Given the description of an element on the screen output the (x, y) to click on. 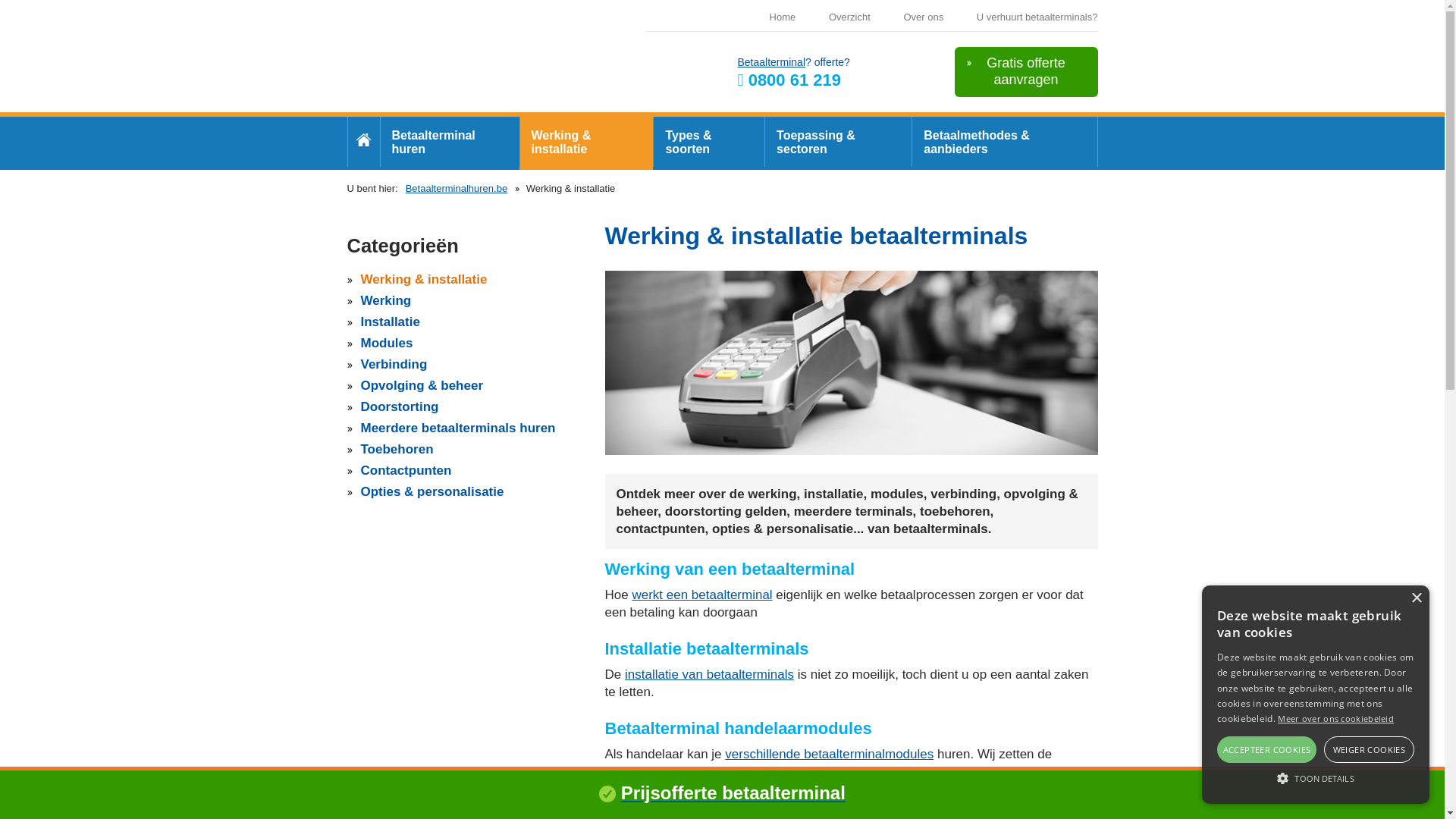
Opvolging & beheer Element type: text (421, 385)
Over ons Element type: text (923, 16)
Verbinding Element type: text (393, 364)
Werking & installatie Element type: text (423, 279)
Betaalterminal Element type: text (771, 62)
Overzicht Element type: text (849, 16)
Types & soorten Element type: text (708, 142)
Home Element type: text (363, 141)
Toepassing & sectoren Element type: text (837, 142)
Contactpunten Element type: text (405, 470)
Home Element type: text (782, 16)
Betaalterminalhuren.be Element type: text (456, 188)
Prijsofferte betaalterminal Element type: text (733, 792)
Werking Element type: text (385, 300)
verschillende betaalterminalmodules Element type: text (828, 753)
U verhuurt betaalterminals? Element type: text (1037, 16)
Doorstorting Element type: text (399, 406)
Opties & personalisatie Element type: text (432, 491)
Modules Element type: text (386, 342)
Betaalmethodes & aanbieders Element type: text (1004, 142)
installatie van betaalterminals Element type: text (708, 674)
Gratis offerte aanvragen Element type: text (1025, 72)
Meer over ons cookiebeleid Element type: text (1335, 718)
Toebehoren Element type: text (396, 449)
werkt een betaalterminal Element type: text (701, 594)
Betaalterminal huren Element type: text (448, 142)
Meerdere betaalterminals huren Element type: text (457, 427)
Werking & installatie Element type: text (586, 142)
Betaalterminal huren Element type: hover (468, 60)
Installatie Element type: text (390, 321)
